Given the description of an element on the screen output the (x, y) to click on. 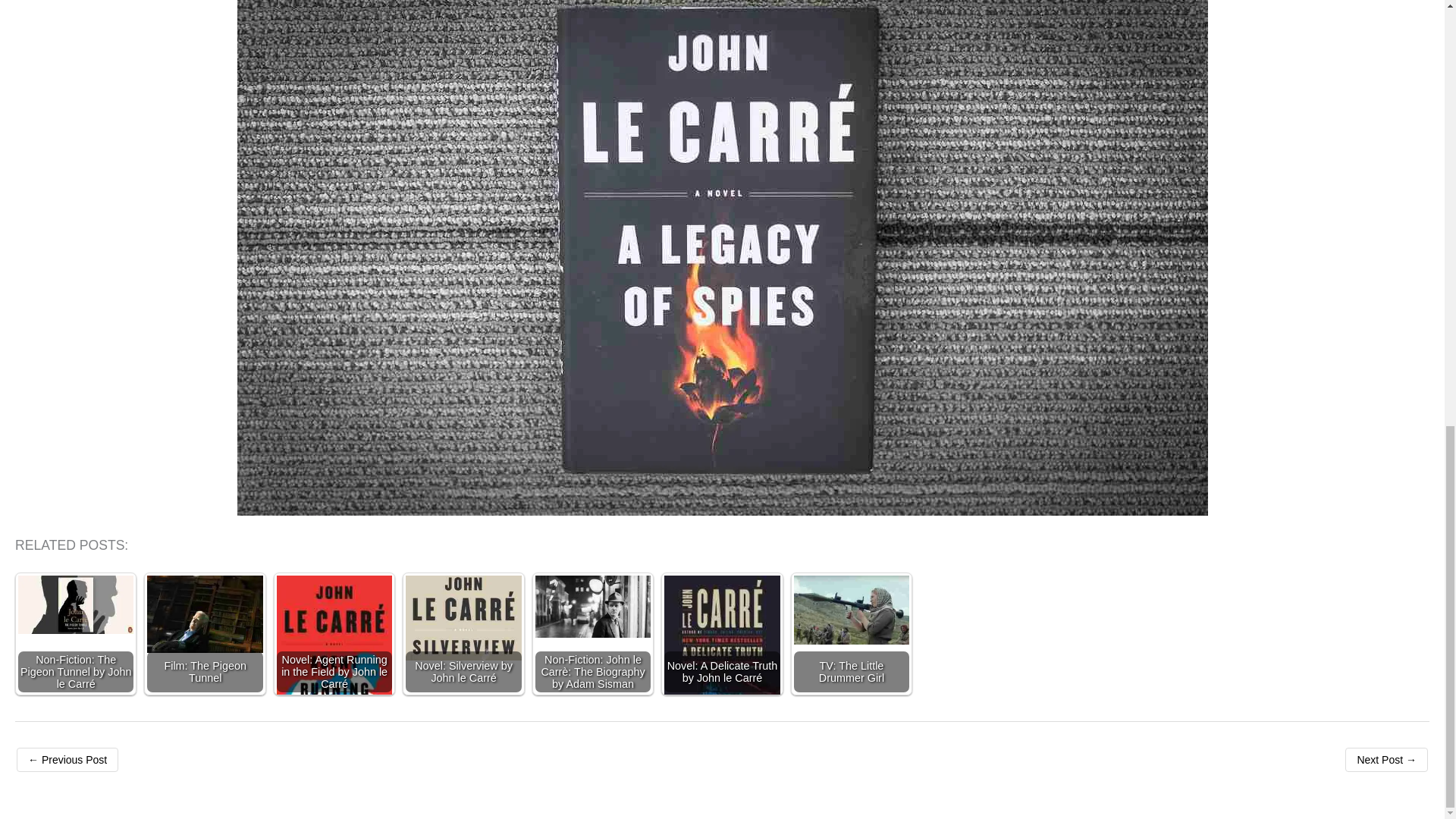
Film: What Happened to Monday (1386, 759)
Film: The Pigeon Tunnel (204, 613)
TV: The Little Drummer Girl (850, 609)
